Given the description of an element on the screen output the (x, y) to click on. 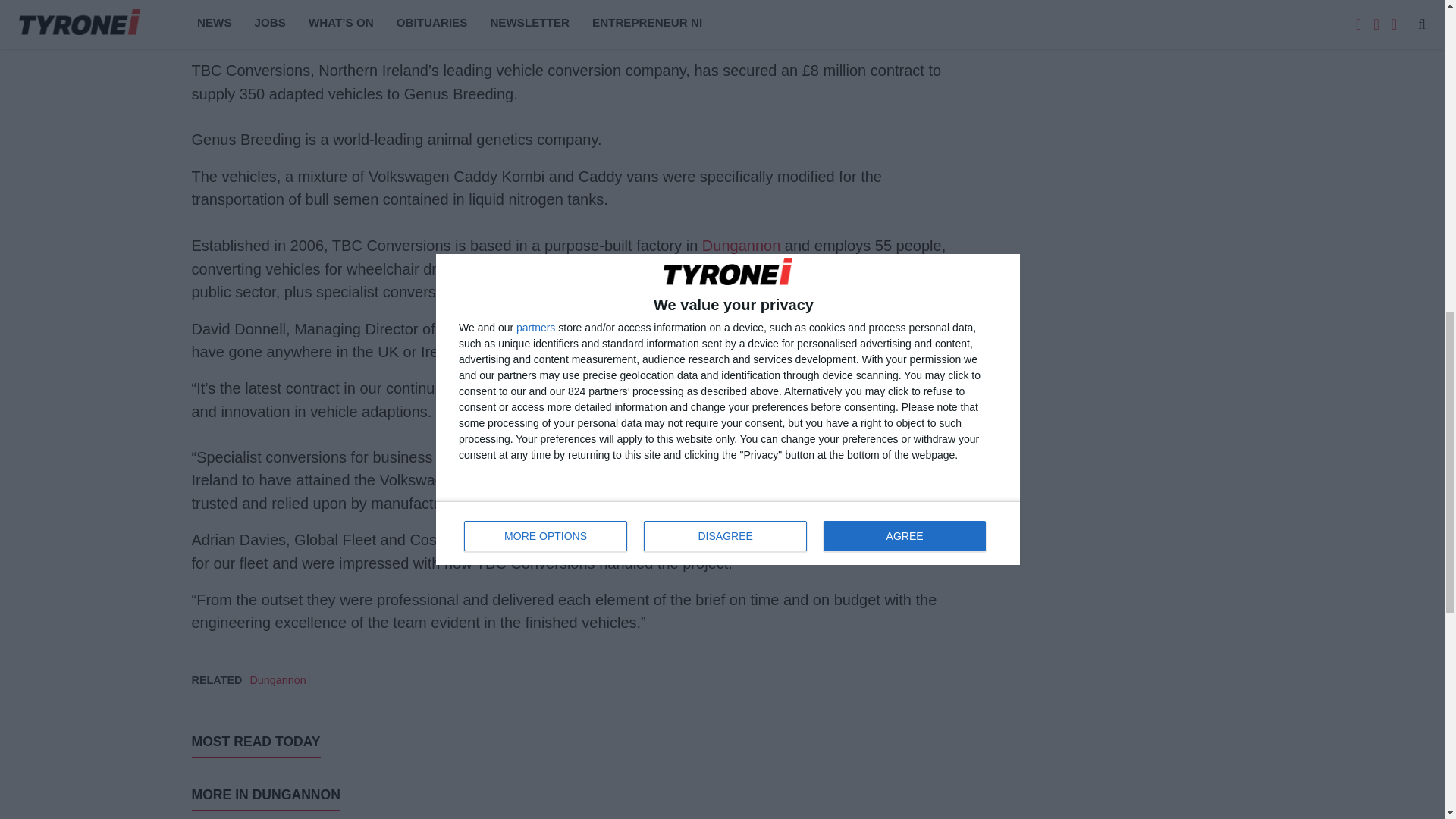
Dungannon (740, 245)
